Given the description of an element on the screen output the (x, y) to click on. 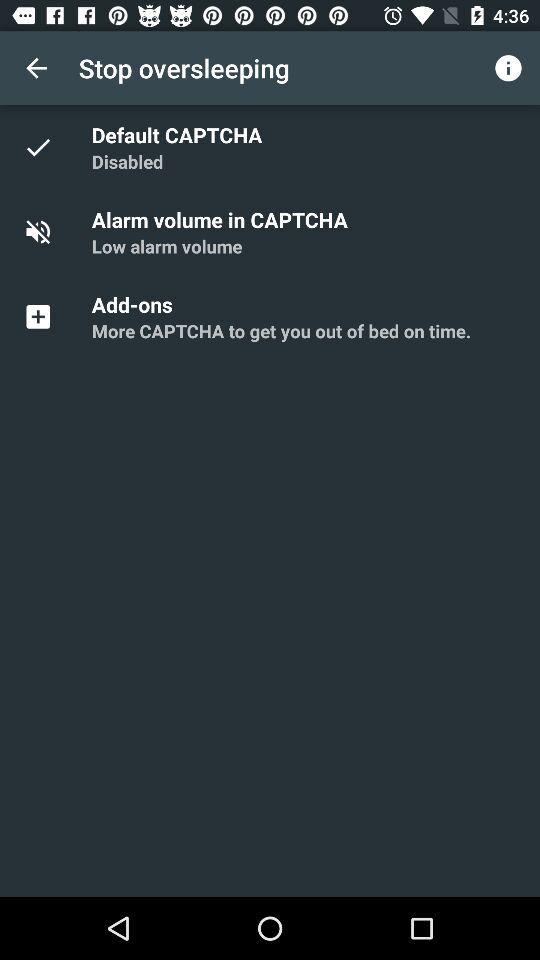
click the disabled (127, 161)
